Given the description of an element on the screen output the (x, y) to click on. 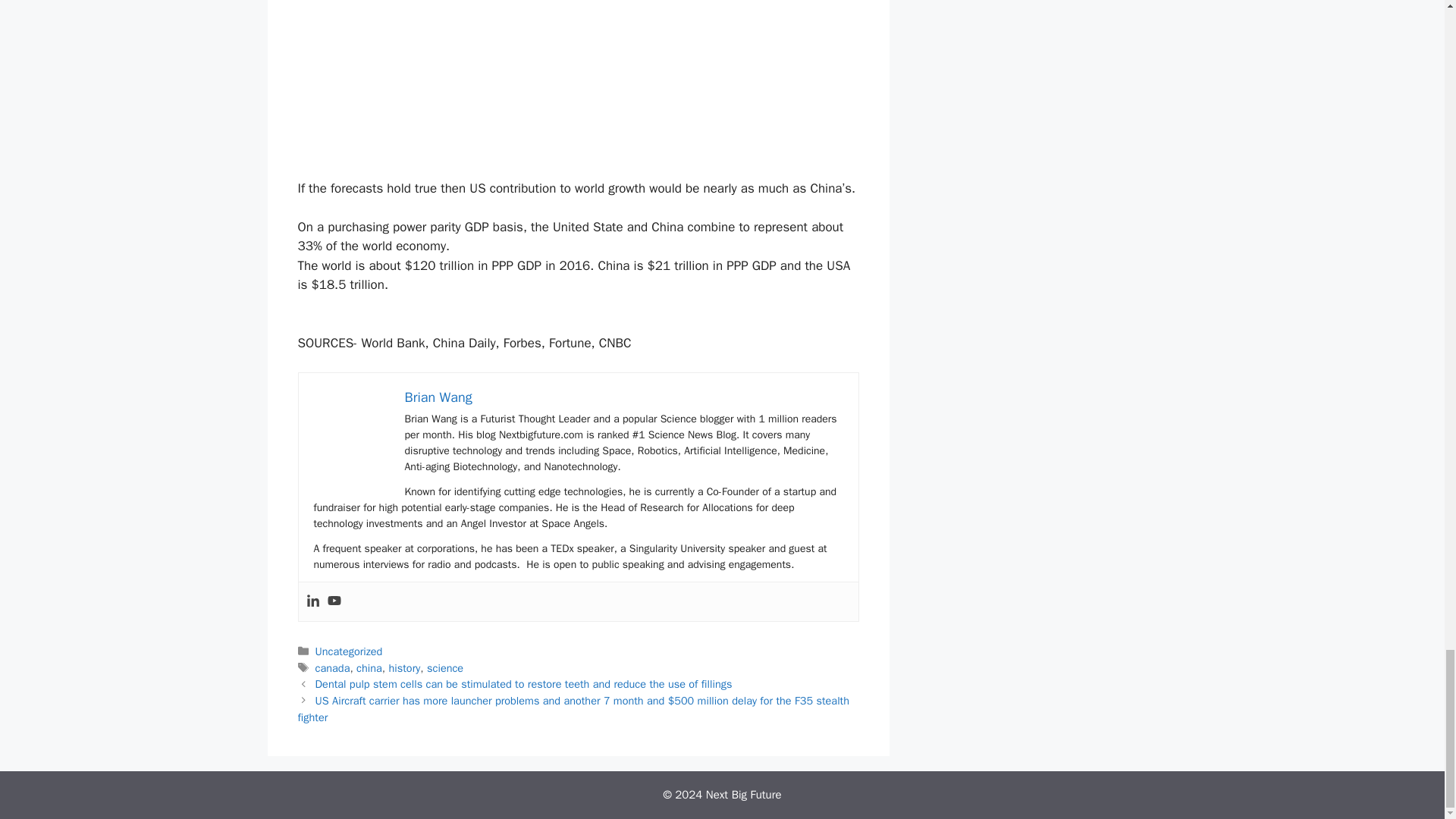
canada (332, 667)
Brian Wang (437, 397)
Uncategorized (348, 651)
history (404, 667)
china (368, 667)
science (444, 667)
